Given the description of an element on the screen output the (x, y) to click on. 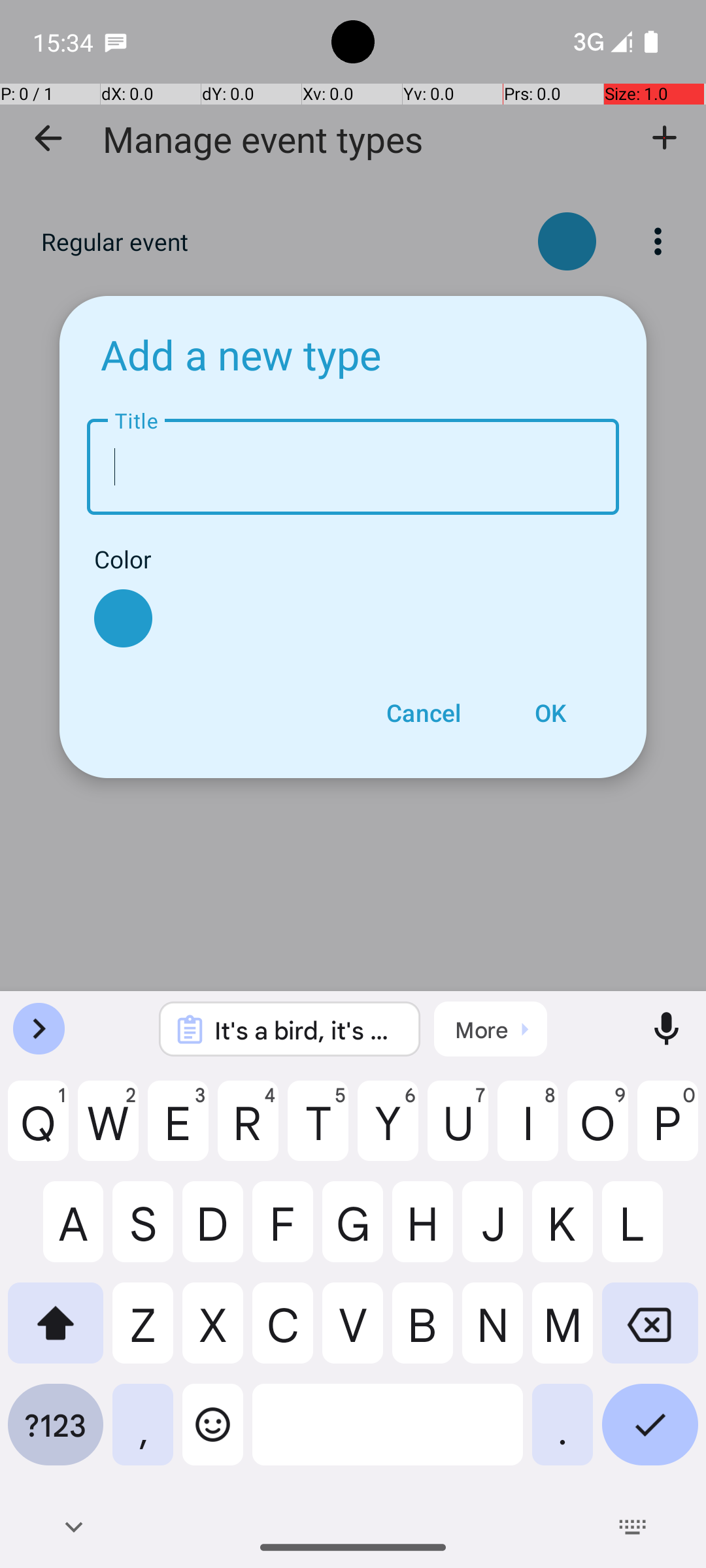
Add a new type Element type: android.widget.TextView (240, 354)
It's a bird, it's a plane. Element type: android.widget.TextView (306, 1029)
